Given the description of an element on the screen output the (x, y) to click on. 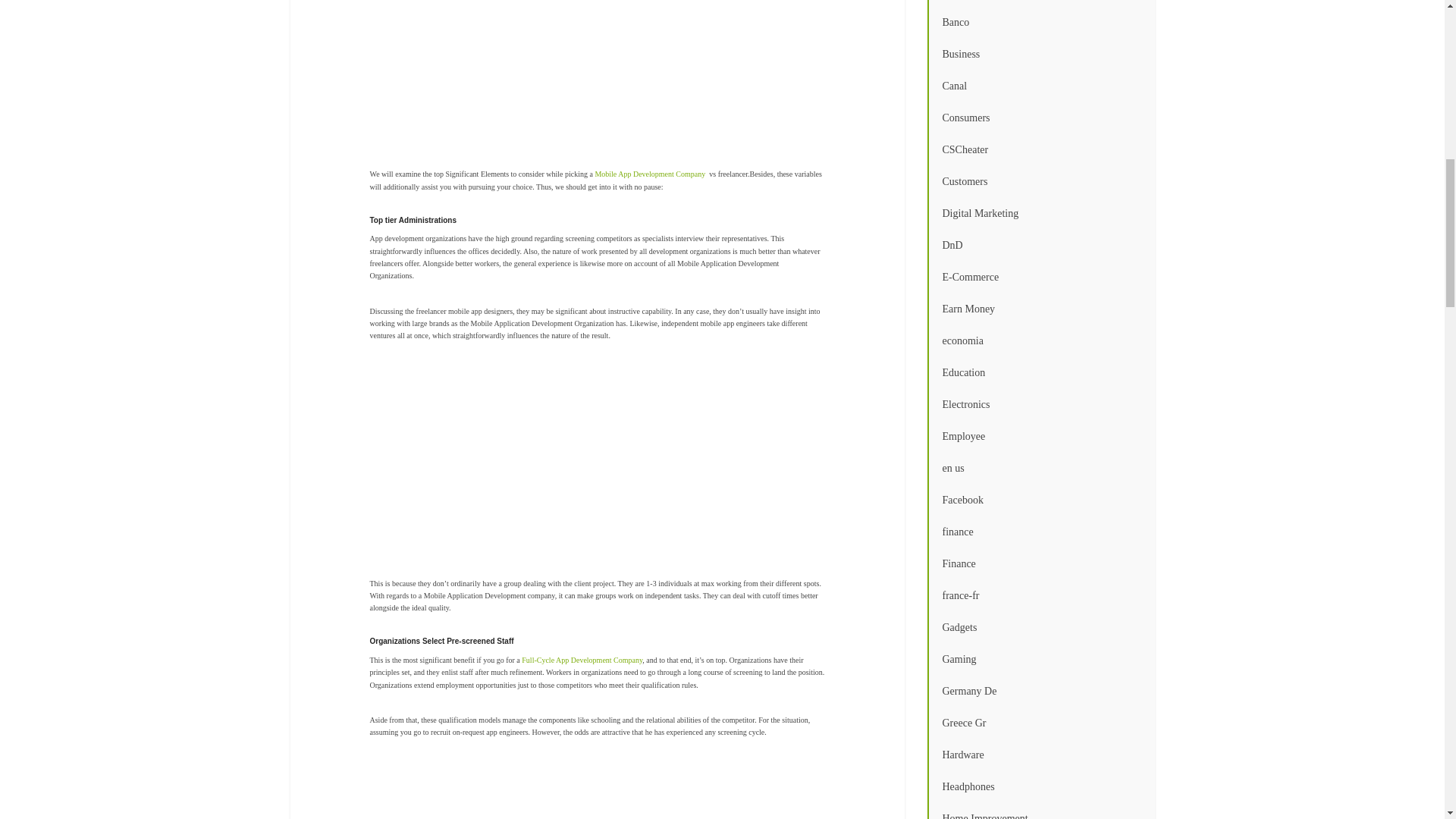
Mobile App Development Company (650, 173)
Advertisement (657, 471)
Advertisement (657, 790)
Advertisement (657, 84)
Full-Cycle App Development Company (581, 660)
